Given the description of an element on the screen output the (x, y) to click on. 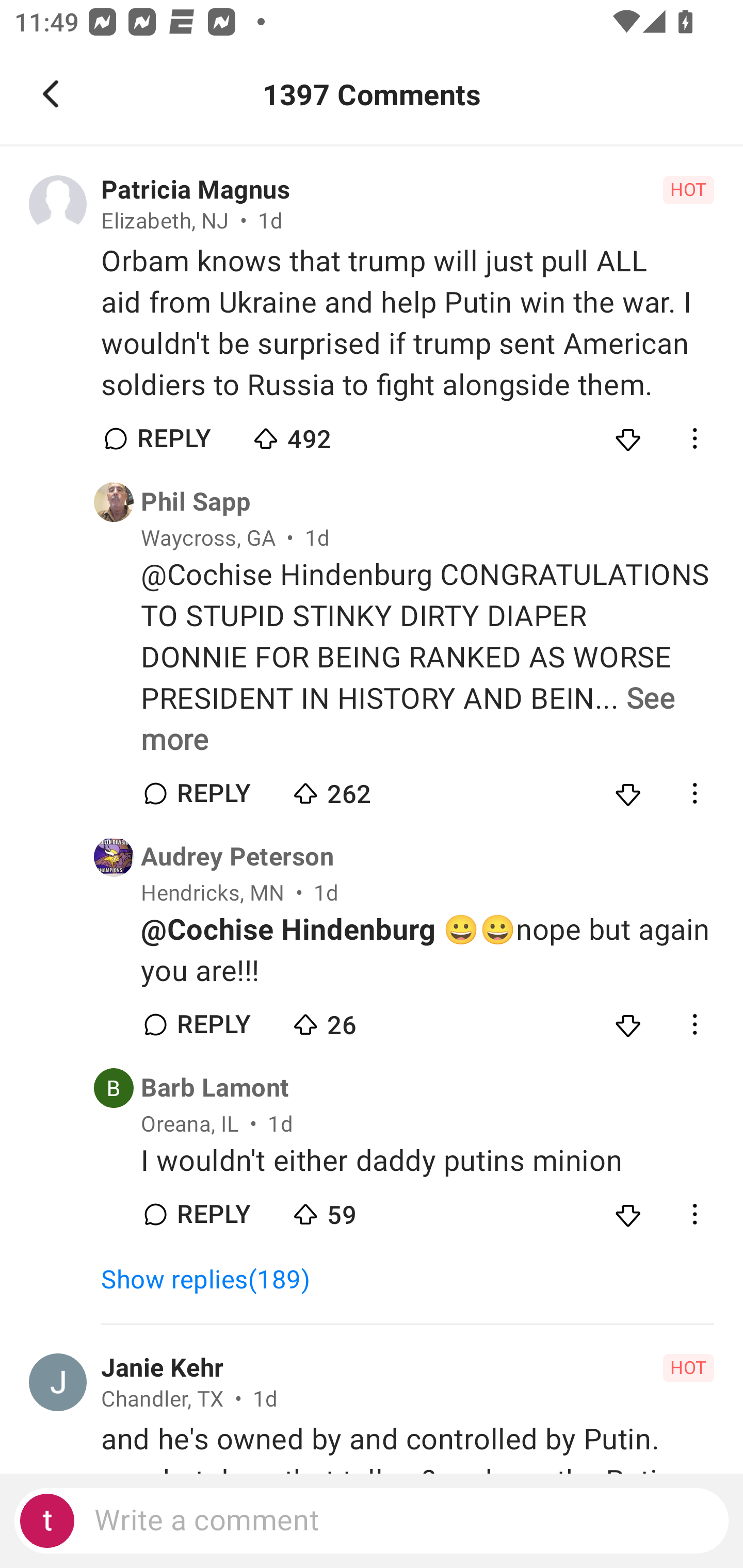
Navigate up (50, 93)
Patricia Magnus (195, 190)
492 (320, 433)
REPLY (173, 438)
Phil Sapp (196, 502)
262 (360, 789)
REPLY (213, 794)
Audrey Peterson (237, 856)
@Cochise Hindenburg 😀😀nope but again you are!!! (427, 949)
26 (360, 1019)
REPLY (213, 1024)
Barb Lamont (215, 1088)
I wouldn't either daddy putins minion (427, 1160)
59 (360, 1209)
REPLY (213, 1214)
Show replies(189) (214, 1280)
Janie Kehr (162, 1367)
Write a comment (371, 1520)
